Given the description of an element on the screen output the (x, y) to click on. 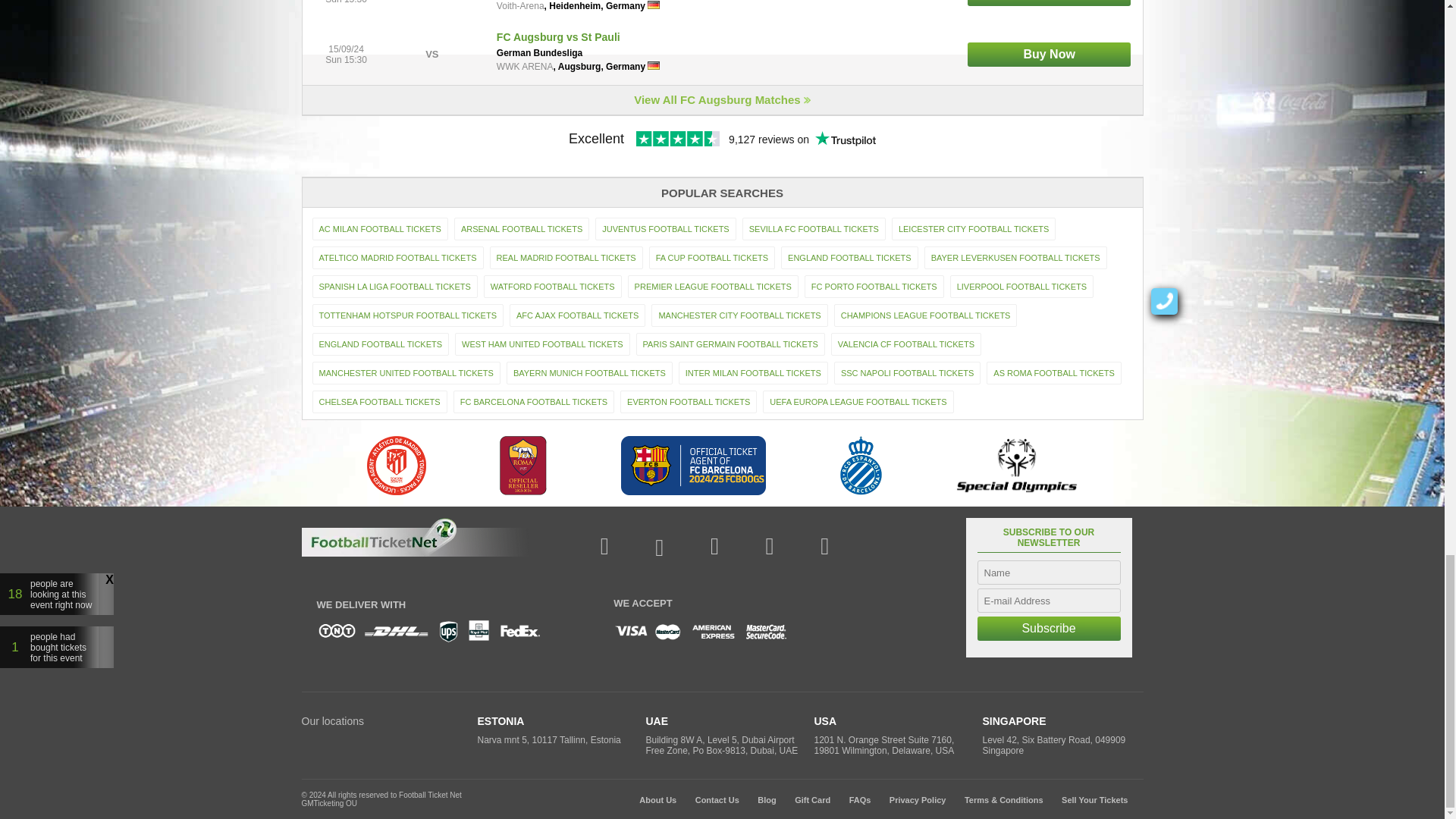
Subscribe (1047, 628)
